Given the description of an element on the screen output the (x, y) to click on. 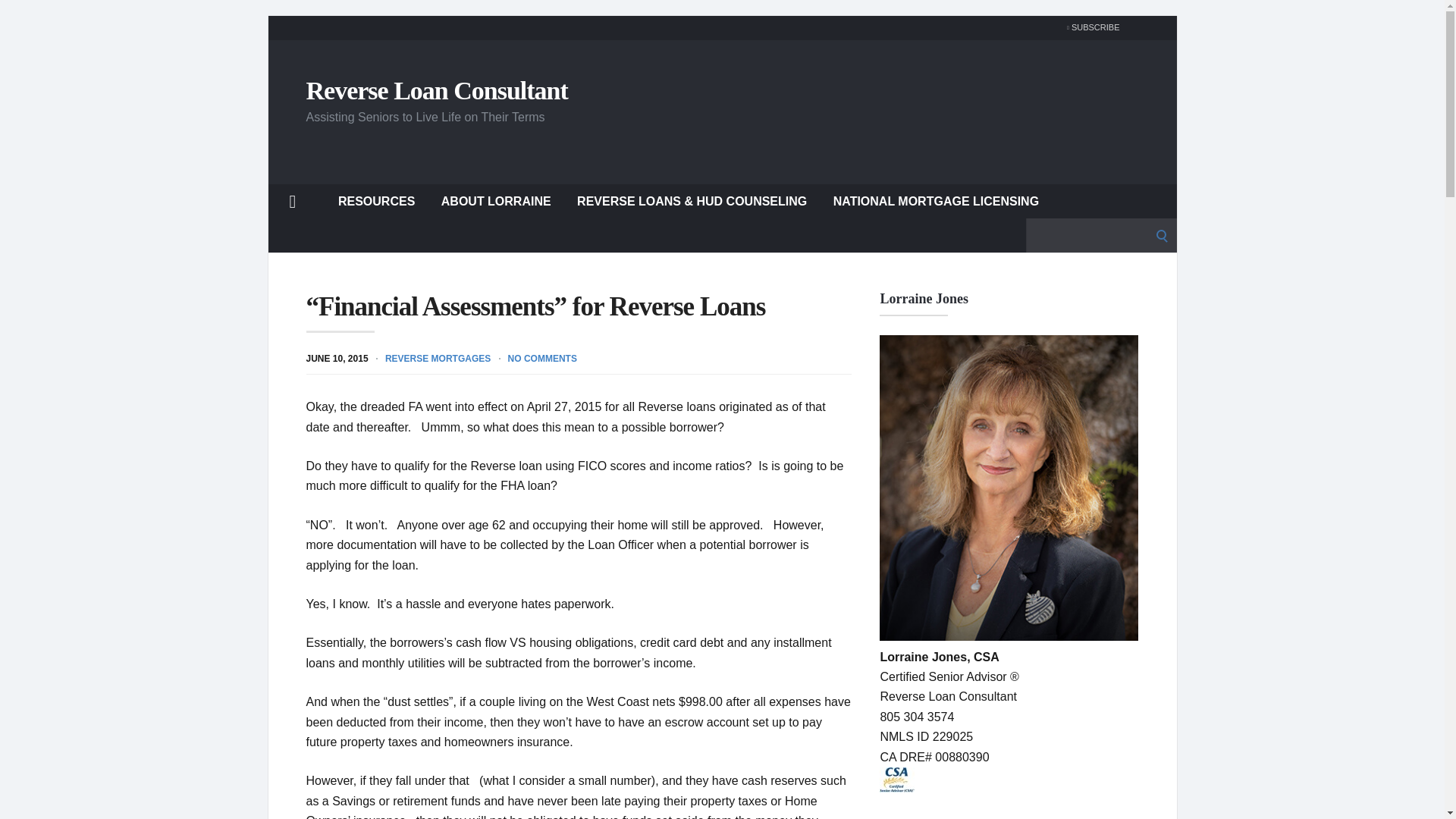
NATIONAL MORTGAGE LICENSING (935, 200)
ABOUT LORRAINE (496, 200)
RESOURCES (375, 200)
Reverse Loan Consultant (436, 89)
REVERSE MORTGAGES (437, 357)
NO COMMENTS (542, 357)
SUBSCRIBE (1089, 27)
Search (16, 17)
